Given the description of an element on the screen output the (x, y) to click on. 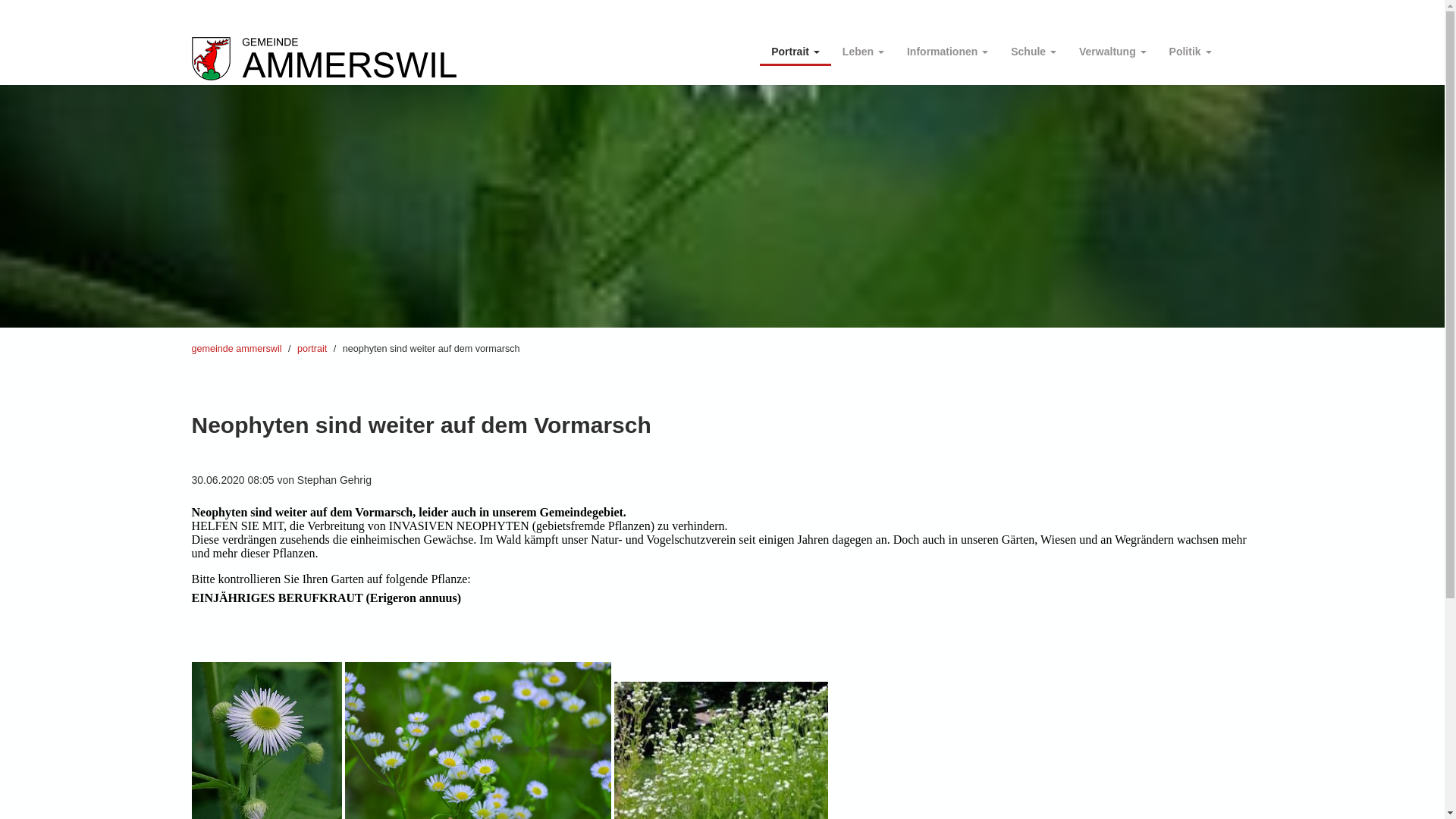
Politik Element type: text (1190, 47)
Schule Element type: text (1033, 47)
gemeinde ammerswil Element type: text (236, 348)
Informationen Element type: text (947, 47)
portrait Element type: text (311, 348)
Portrait Element type: text (795, 47)
Leben Element type: text (863, 47)
Verwaltung Element type: text (1112, 47)
